Given the description of an element on the screen output the (x, y) to click on. 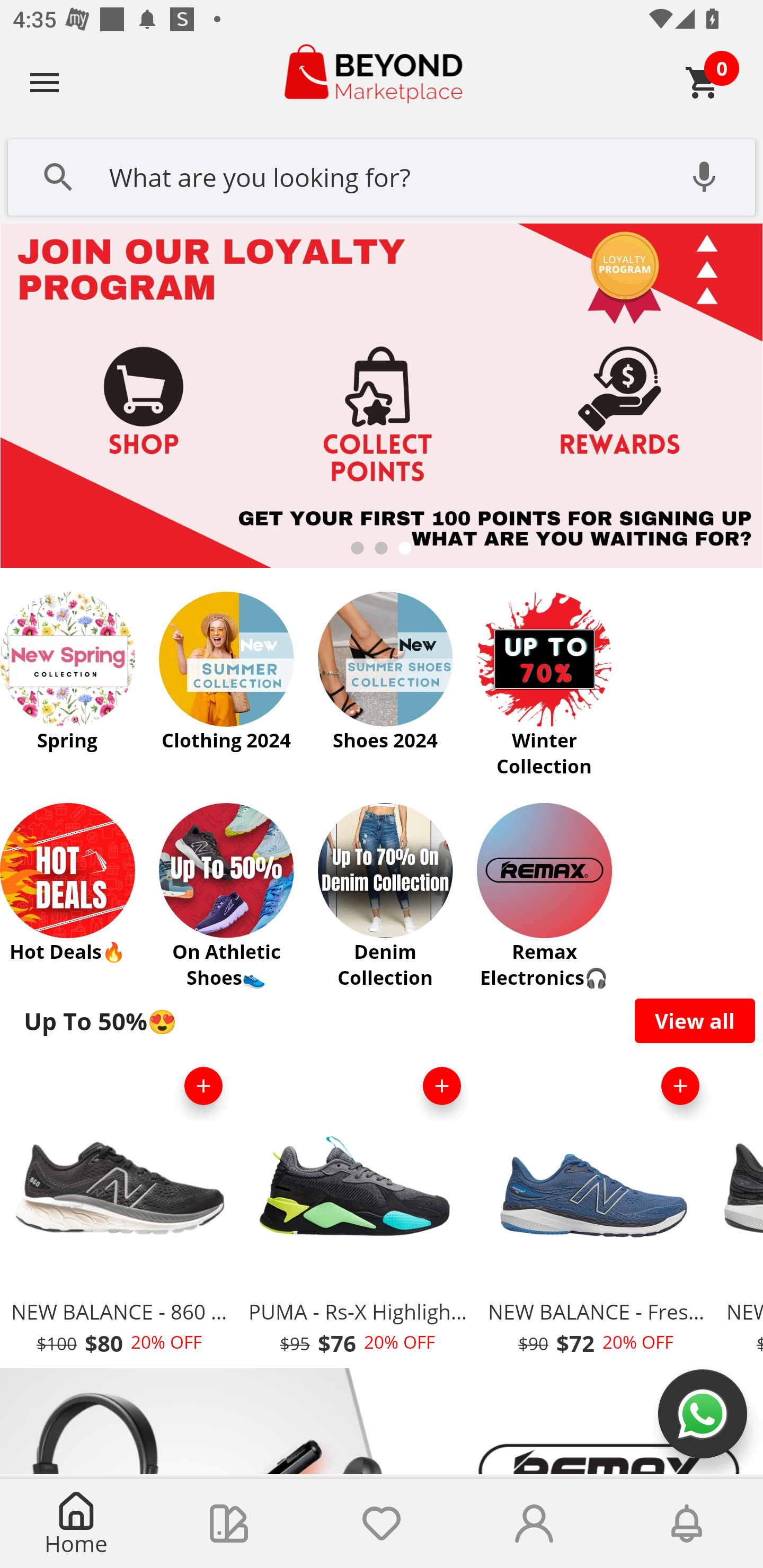
Navigate up (44, 82)
What are you looking for? (381, 175)
View all (694, 1020)
NEW BALANCE - 860 Running Shoes $100 $80 20% OFF (119, 1209)
Collections (228, 1523)
Wishlist (381, 1523)
Account (533, 1523)
Notifications (686, 1523)
